Given the description of an element on the screen output the (x, y) to click on. 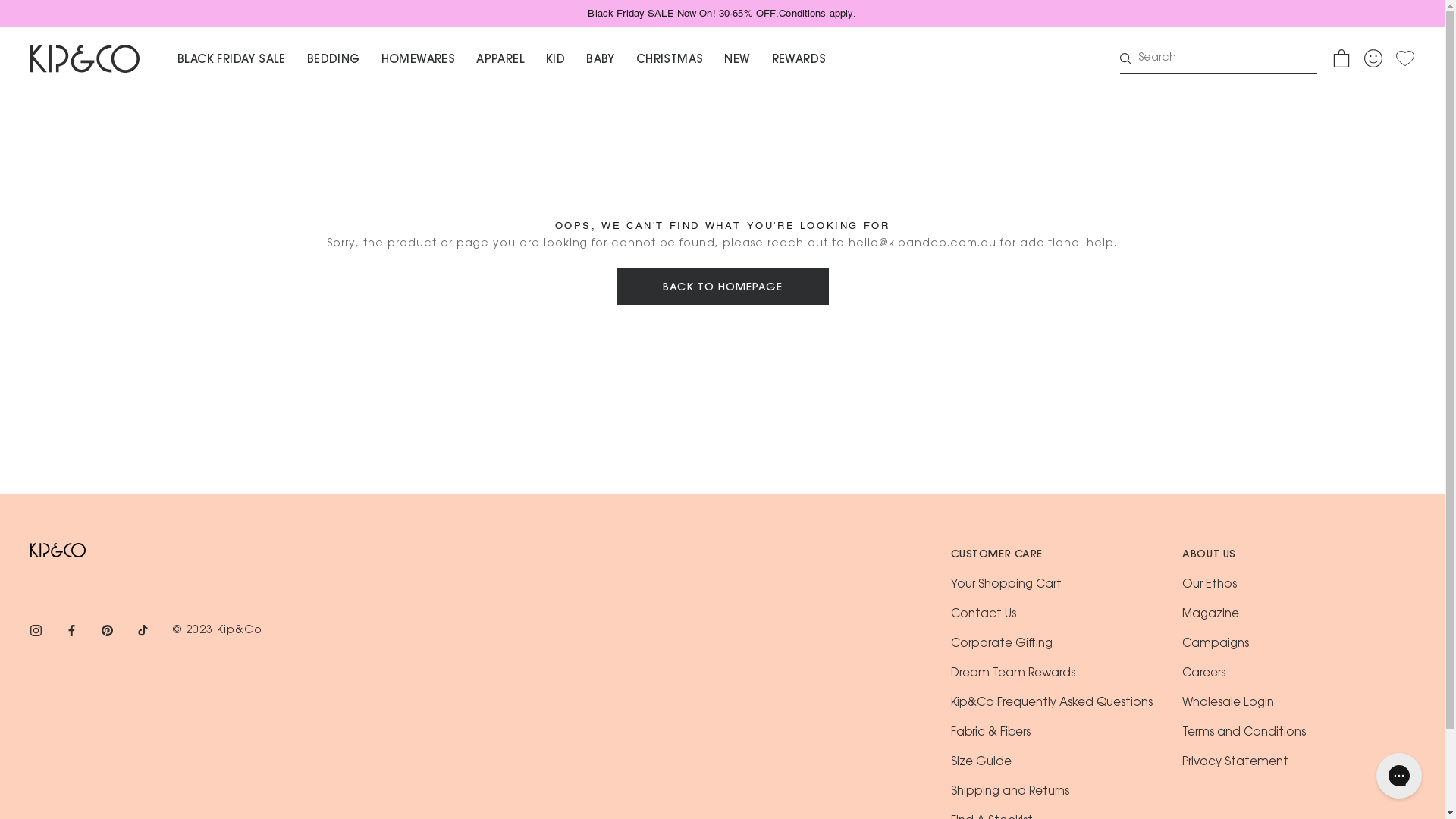
REWARDS Element type: text (798, 60)
Wholesale Login Element type: text (1228, 703)
Size Guide Element type: text (980, 762)
BEDDING Element type: text (333, 60)
BABY Element type: text (600, 60)
Terms and Conditions Element type: text (1243, 732)
HOMEWARES Element type: text (418, 60)
BACK TO HOMEPAGE Element type: text (721, 286)
ABOUT US Element type: text (1208, 555)
Our Ethos Element type: text (1209, 584)
Shipping and Returns Element type: text (1009, 791)
Corporate Gifting Element type: text (1001, 643)
CHRISTMAS Element type: text (669, 60)
Gorgias live chat messenger Element type: hover (1398, 775)
Campaigns Element type: text (1215, 643)
Black Friday SALE Now On! 30-65% OFF. Element type: text (682, 13)
BLACK FRIDAY SALE Element type: text (231, 60)
Magazine Element type: text (1210, 614)
KID Element type: text (555, 60)
NEW Element type: text (736, 60)
Conditions apply. Element type: text (817, 13)
Kip&Co Frequently Asked Questions Element type: text (1051, 703)
CUSTOMER CARE Element type: text (996, 555)
Fabric & Fibers Element type: text (990, 732)
APPAREL Element type: text (500, 60)
Privacy Statement Element type: text (1235, 762)
Contact Us Element type: text (983, 614)
Dream Team Rewards Element type: text (1012, 673)
Careers Element type: text (1203, 673)
Your Shopping Cart Element type: text (1005, 584)
